Given the description of an element on the screen output the (x, y) to click on. 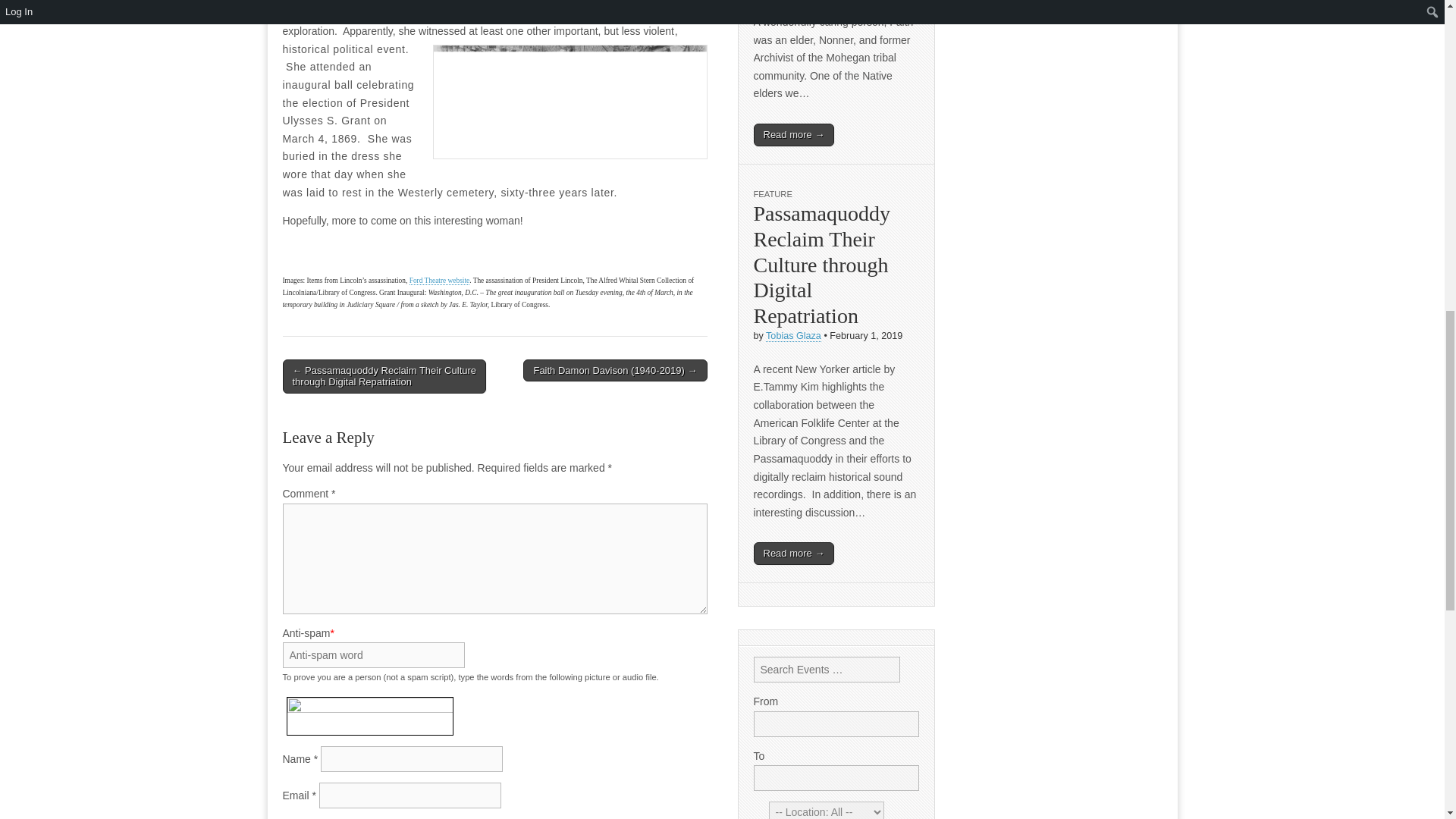
Ford Theatre website (439, 280)
Listen (462, 706)
Posts by Tobias Glaza (793, 336)
Load new (462, 722)
Search for events: (826, 669)
